Given the description of an element on the screen output the (x, y) to click on. 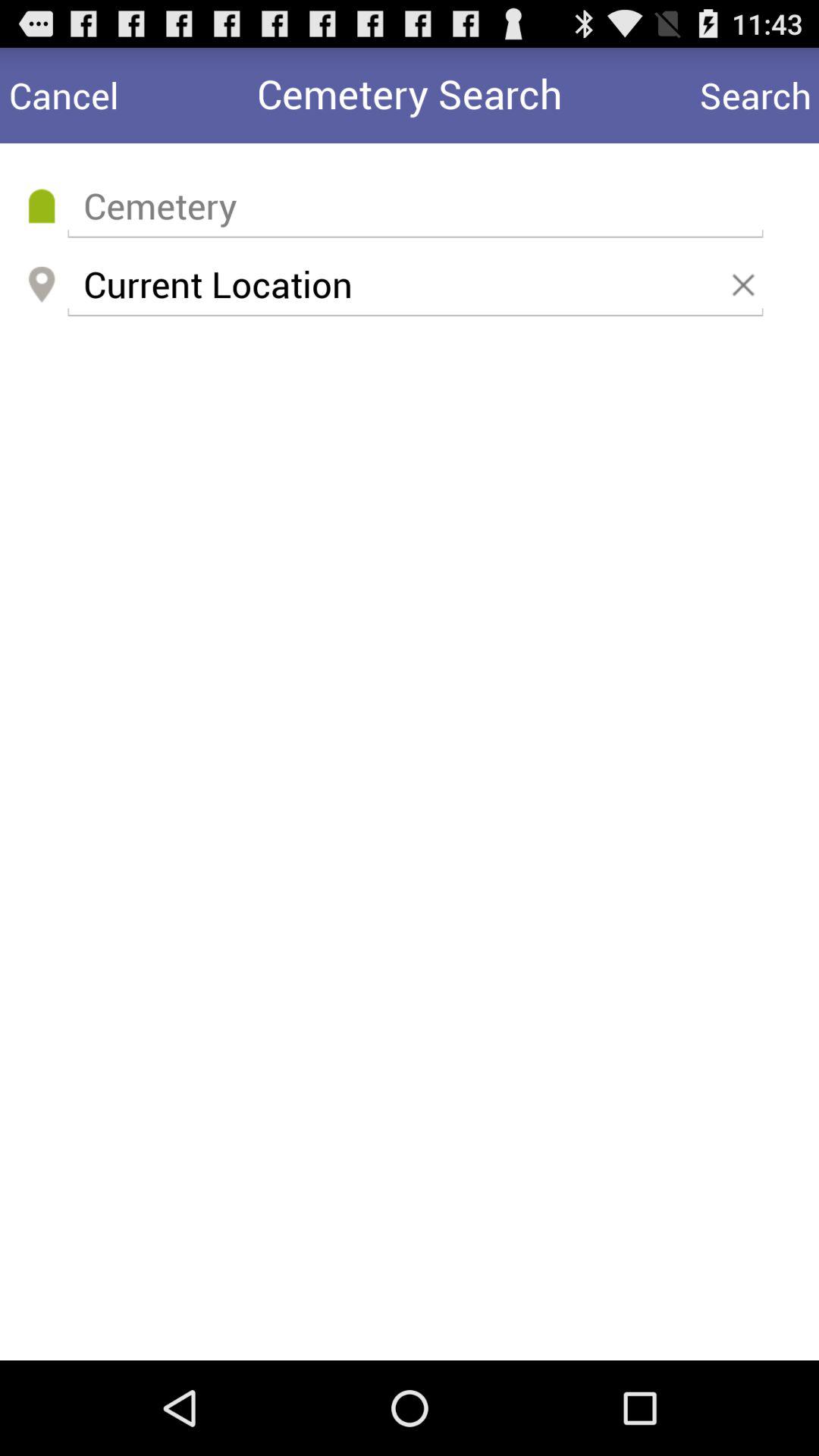
click current location icon (415, 284)
